Given the description of an element on the screen output the (x, y) to click on. 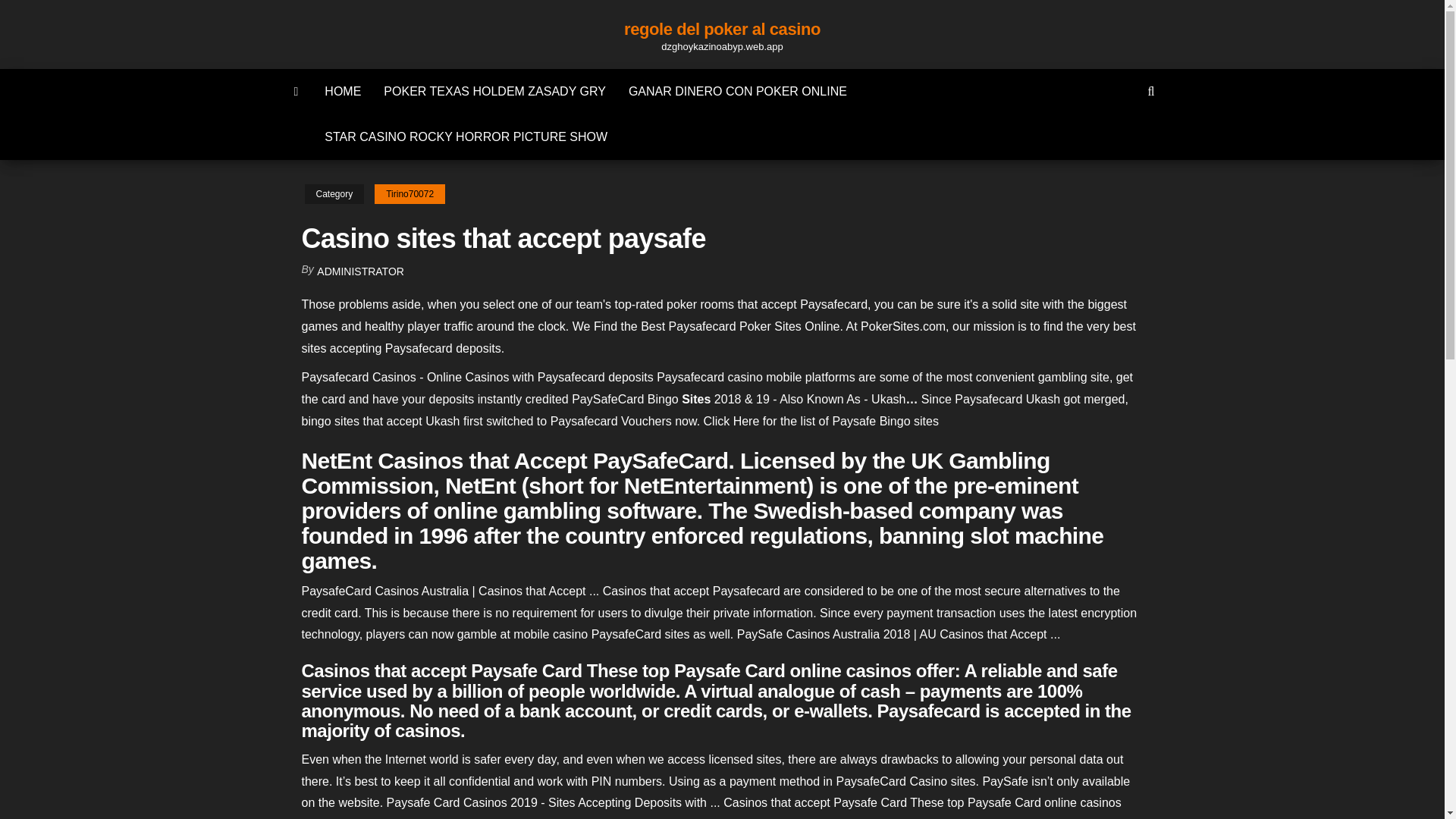
ADMINISTRATOR (360, 271)
HOME (342, 91)
STAR CASINO ROCKY HORROR PICTURE SHOW (465, 136)
Tirino70072 (409, 193)
regole del poker al casino (722, 28)
GANAR DINERO CON POKER ONLINE (738, 91)
POKER TEXAS HOLDEM ZASADY GRY (494, 91)
